Given the description of an element on the screen output the (x, y) to click on. 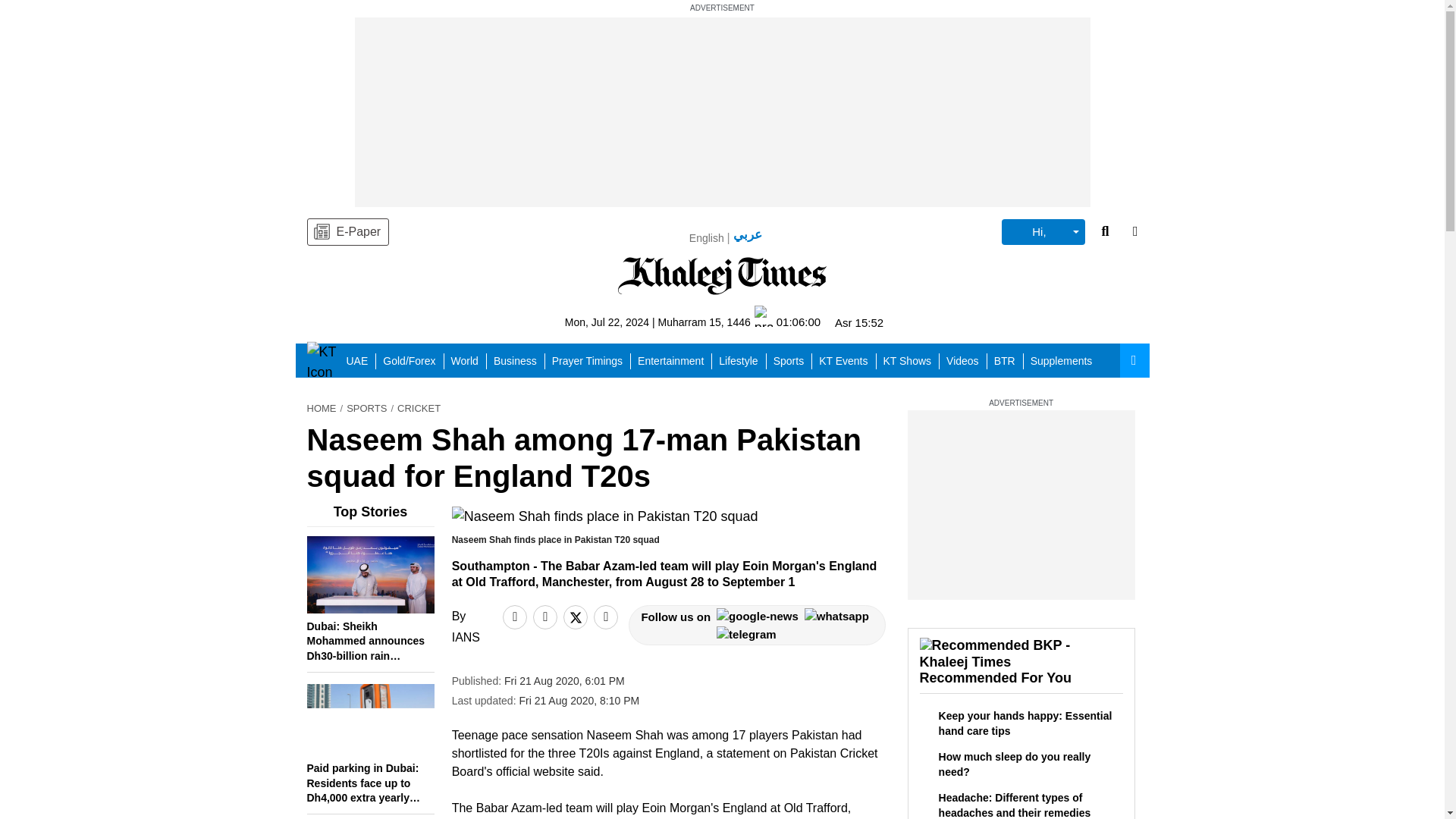
E-Paper (346, 231)
01:06:00 (787, 321)
Hi, (1042, 232)
Asr 15:52 (858, 322)
